Given the description of an element on the screen output the (x, y) to click on. 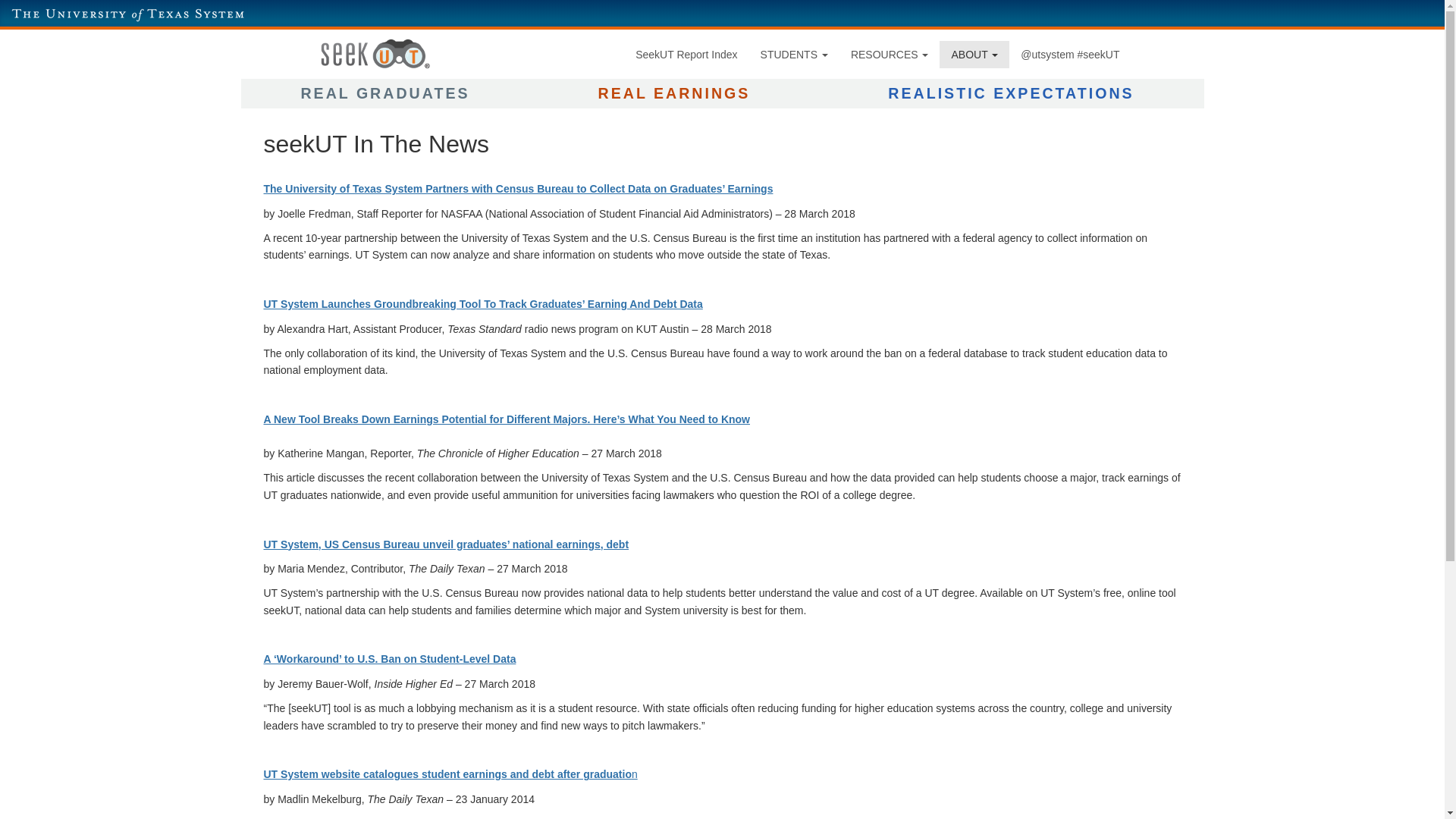
ABOUT (974, 53)
Texas Standard Radio News article (483, 304)
UT System Twitter account (1070, 53)
RESOURCES (890, 53)
Inside Higher Ed article (389, 658)
STUDENTS (794, 53)
Go to the UT System Home Page (127, 14)
SeekUT Report Index (686, 53)
